Given the description of an element on the screen output the (x, y) to click on. 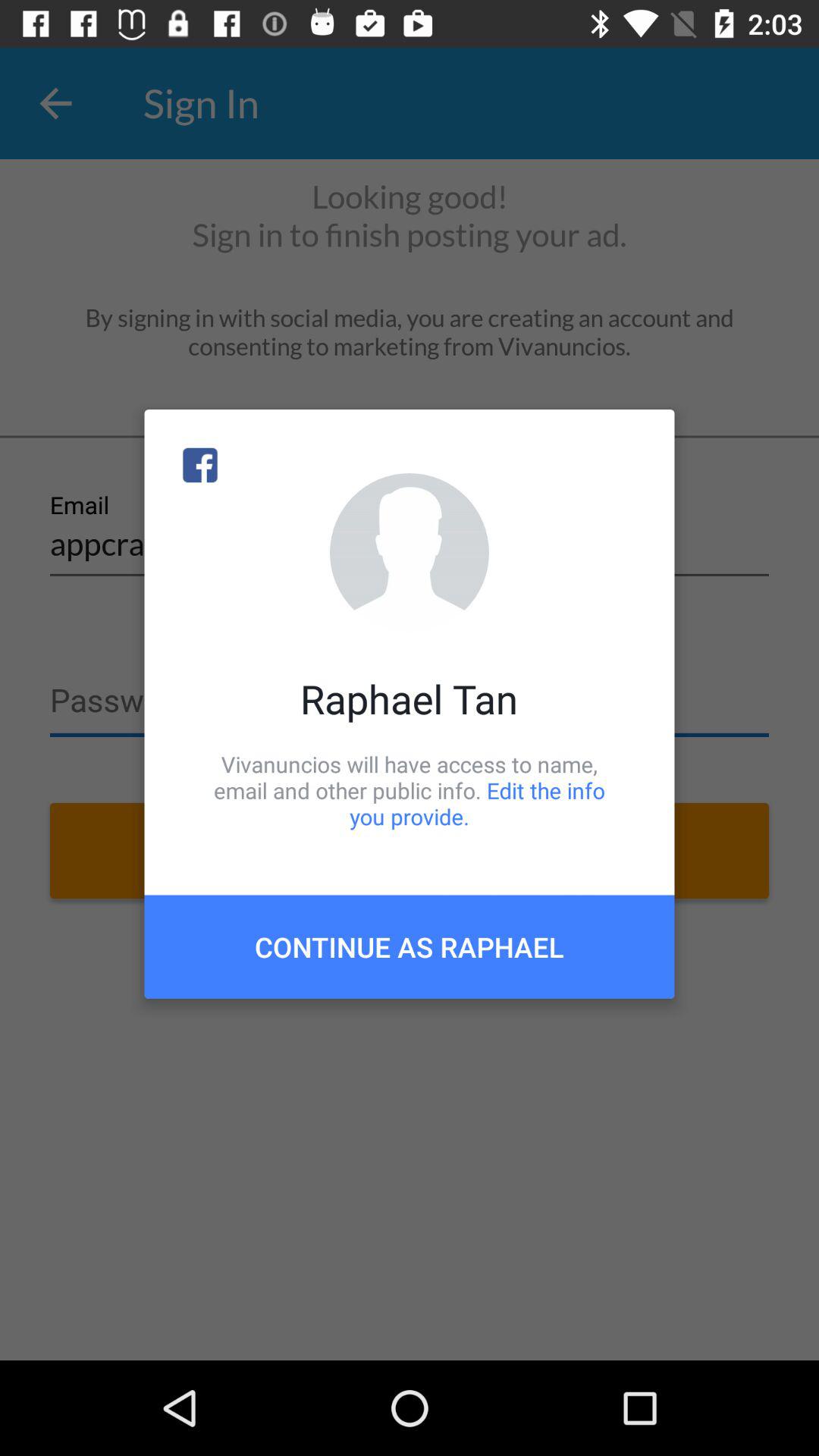
tap vivanuncios will have (409, 790)
